Given the description of an element on the screen output the (x, y) to click on. 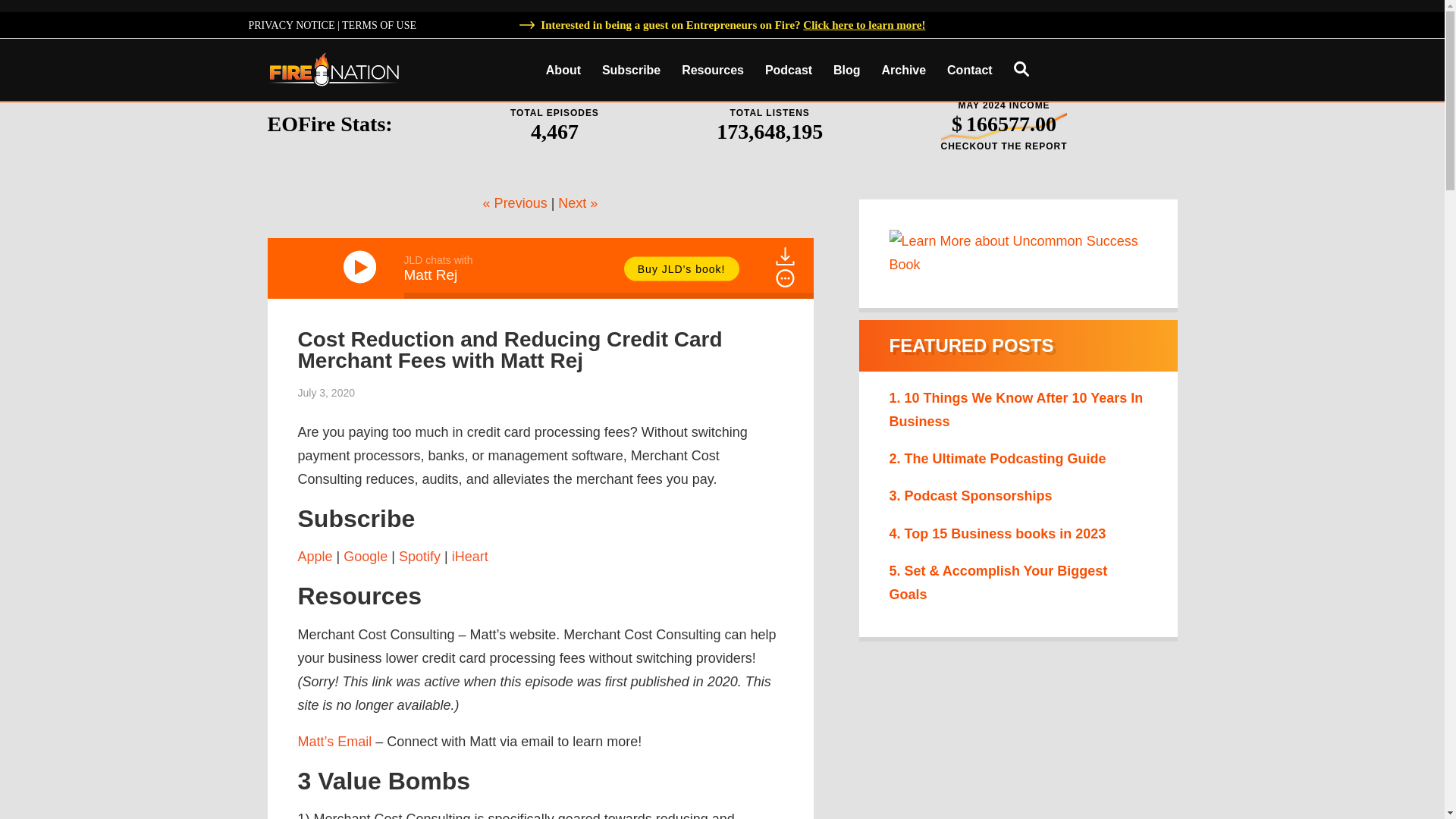
ENTREPRENEURS ON FIRE WITH JOHN LEE DUMAS (333, 68)
Resources (712, 71)
Apple (314, 556)
Blog (846, 71)
TERMS OF USE (379, 25)
Contact (969, 71)
Archive (903, 71)
Spotify (419, 556)
Click here to learn more! (863, 24)
About (563, 71)
Subscribe (630, 71)
iHeart (469, 556)
Google (365, 556)
Podcast (788, 71)
PRIVACY NOTICE (291, 25)
